Given the description of an element on the screen output the (x, y) to click on. 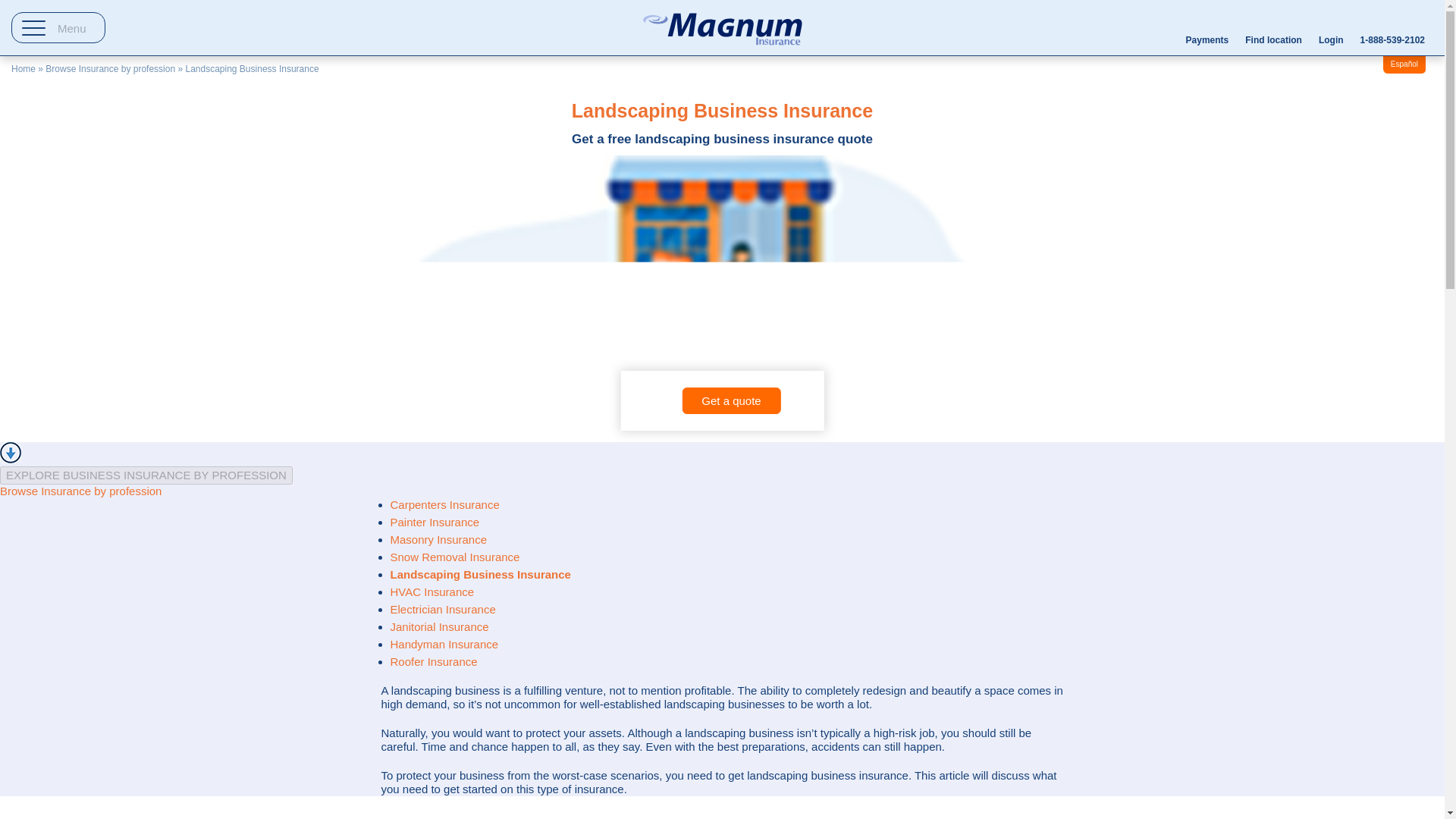
Menu (57, 27)
Close menu (35, 184)
Payments (1207, 29)
Find location (1273, 29)
1-888-539-2102 (1392, 29)
Magnum Insurance (721, 28)
